Given the description of an element on the screen output the (x, y) to click on. 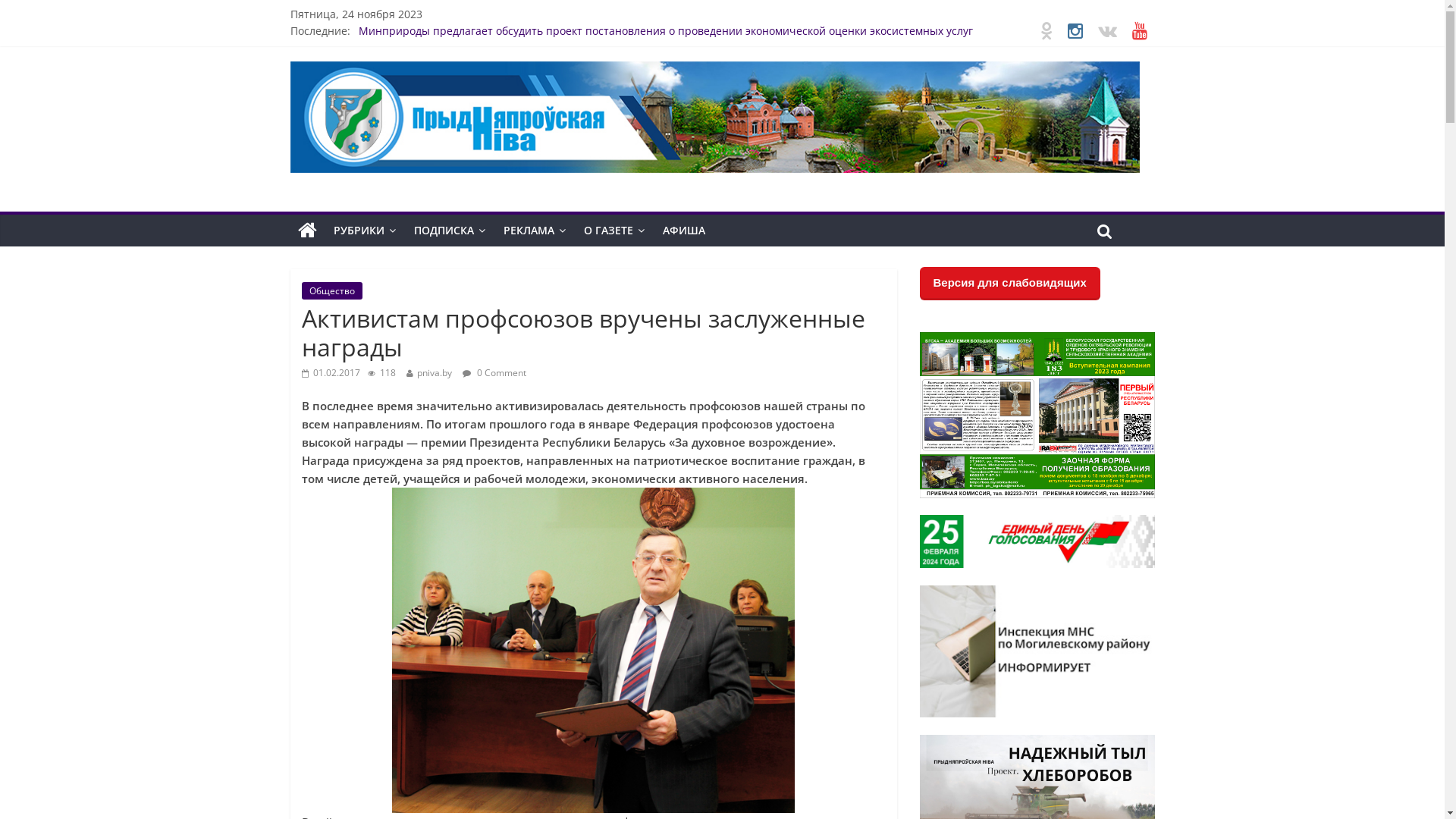
118 Element type: text (381, 371)
0 Comment Element type: text (494, 371)
01.02.2017 Element type: text (330, 371)
pniva.by Element type: text (434, 371)
